Given the description of an element on the screen output the (x, y) to click on. 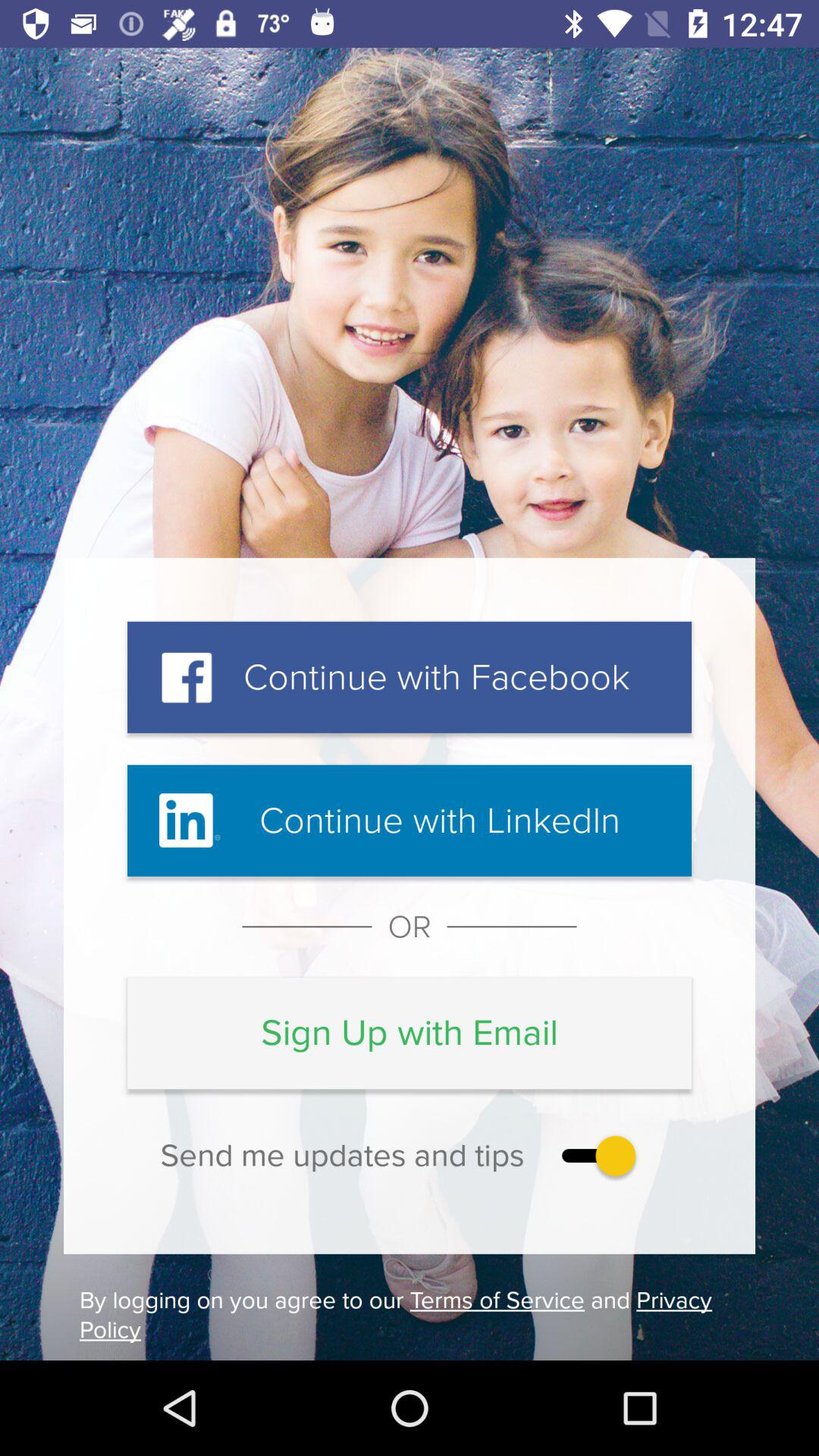
choose the sign up with icon (409, 1033)
